Given the description of an element on the screen output the (x, y) to click on. 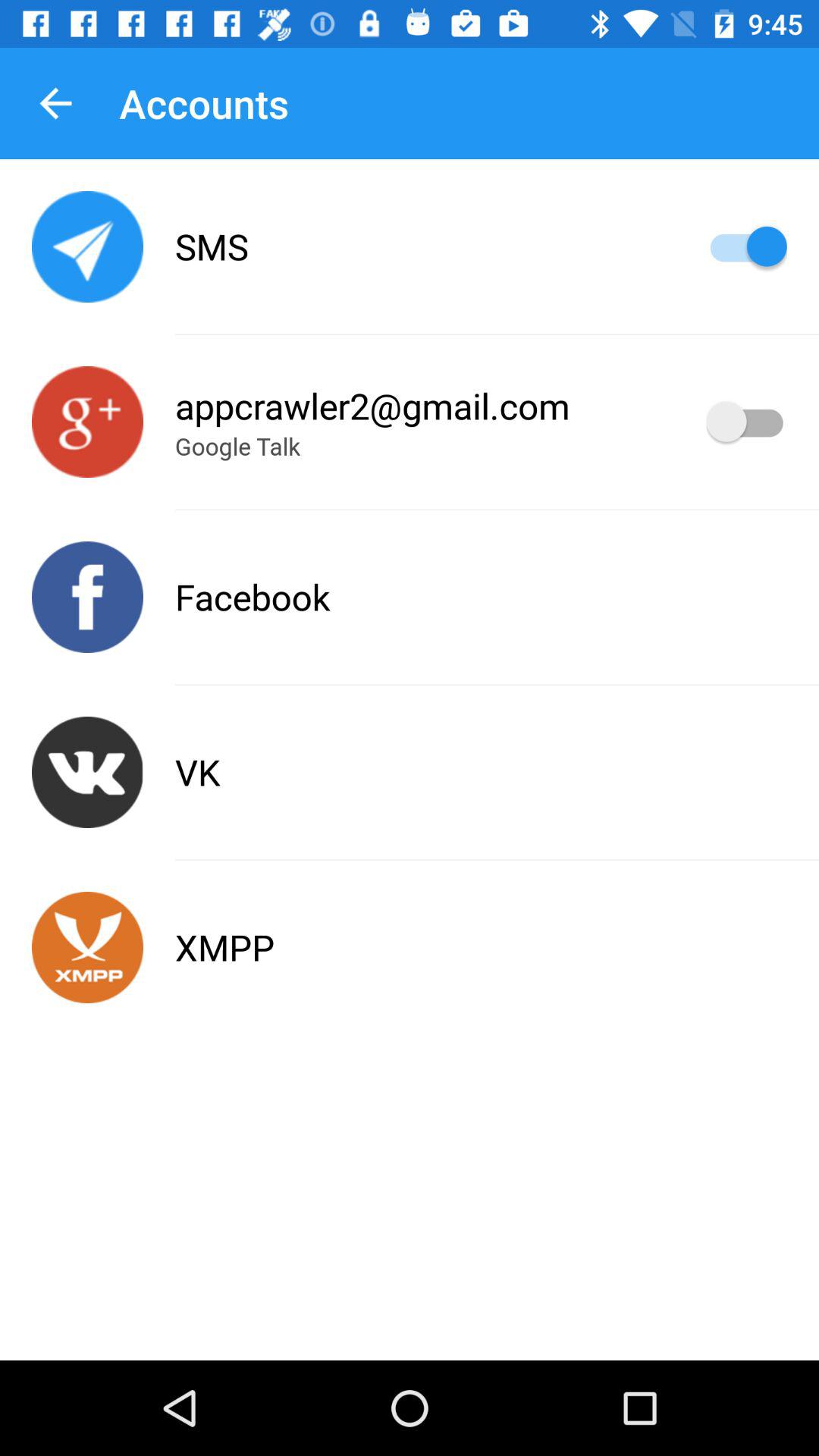
connect/disconnect account (87, 421)
